Given the description of an element on the screen output the (x, y) to click on. 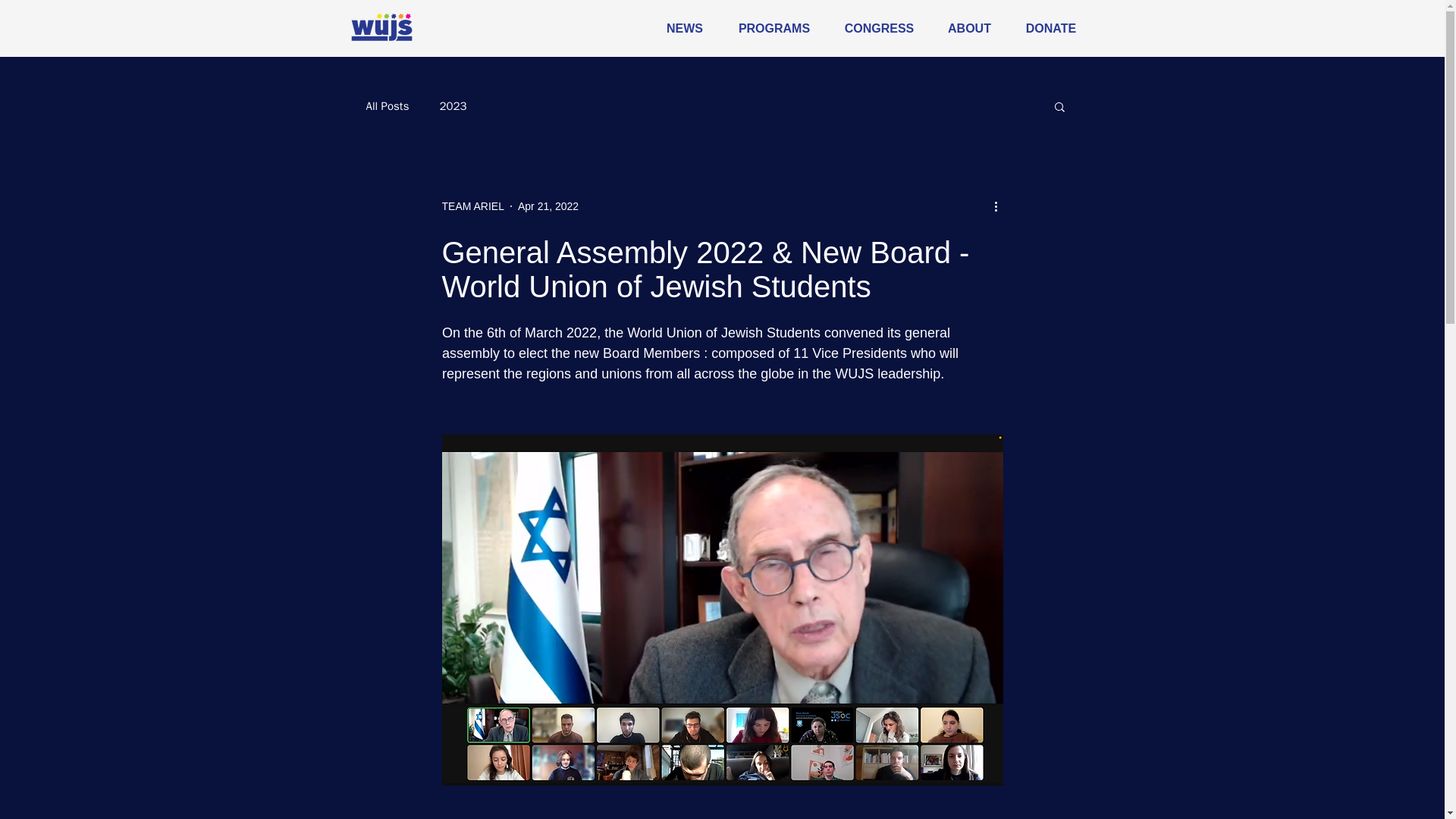
CONGRESS (879, 27)
ABOUT (970, 27)
All Posts (387, 105)
TEAM ARIEL (472, 206)
DONATE (1051, 27)
2023 (452, 105)
PROGRAMS (773, 27)
TEAM ARIEL (472, 206)
NEWS (684, 27)
Apr 21, 2022 (548, 205)
